Given the description of an element on the screen output the (x, y) to click on. 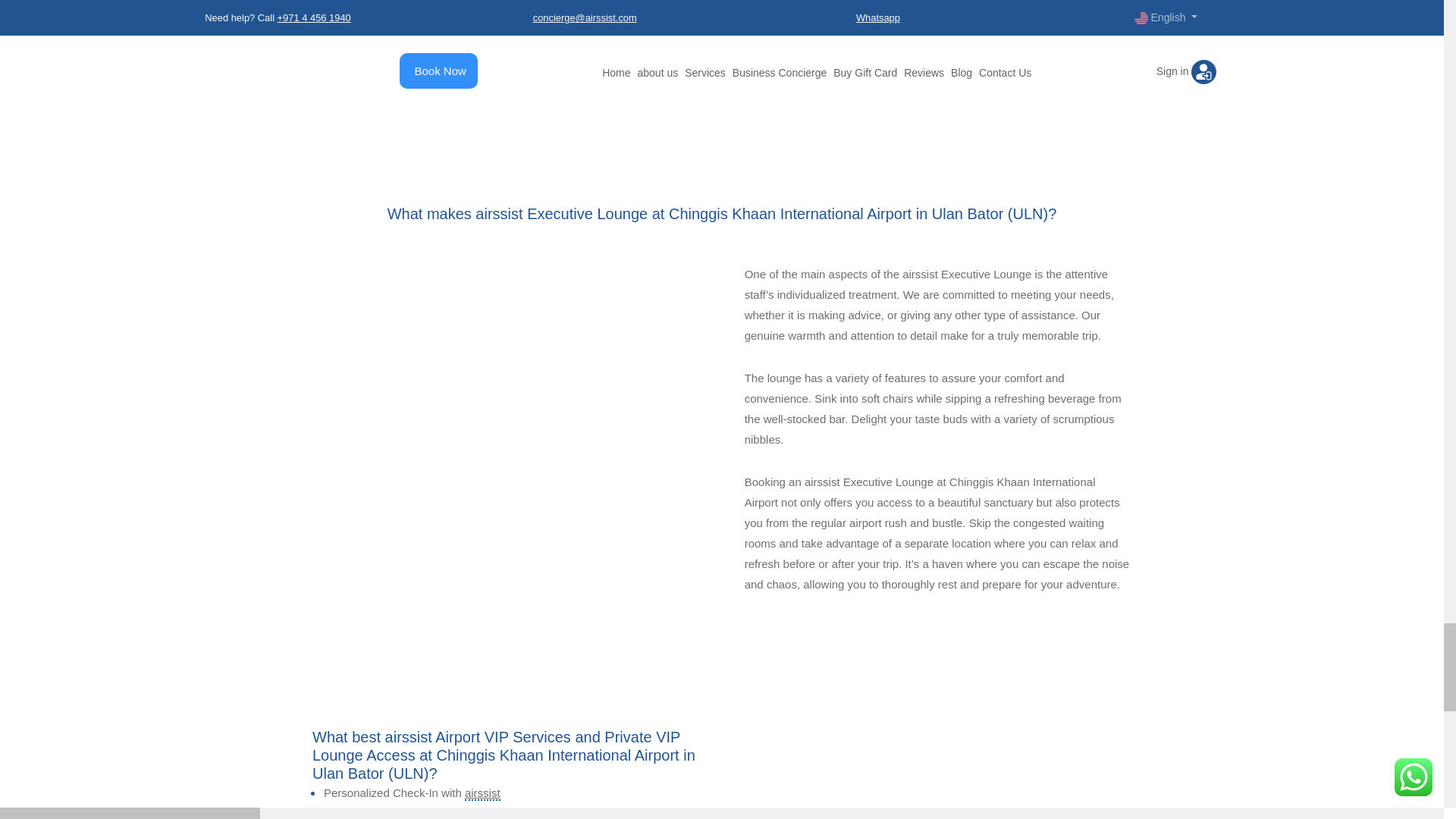
Heathrow lounges (937, 773)
airssist-what (505, 422)
Business Lounge Access (937, 21)
